Given the description of an element on the screen output the (x, y) to click on. 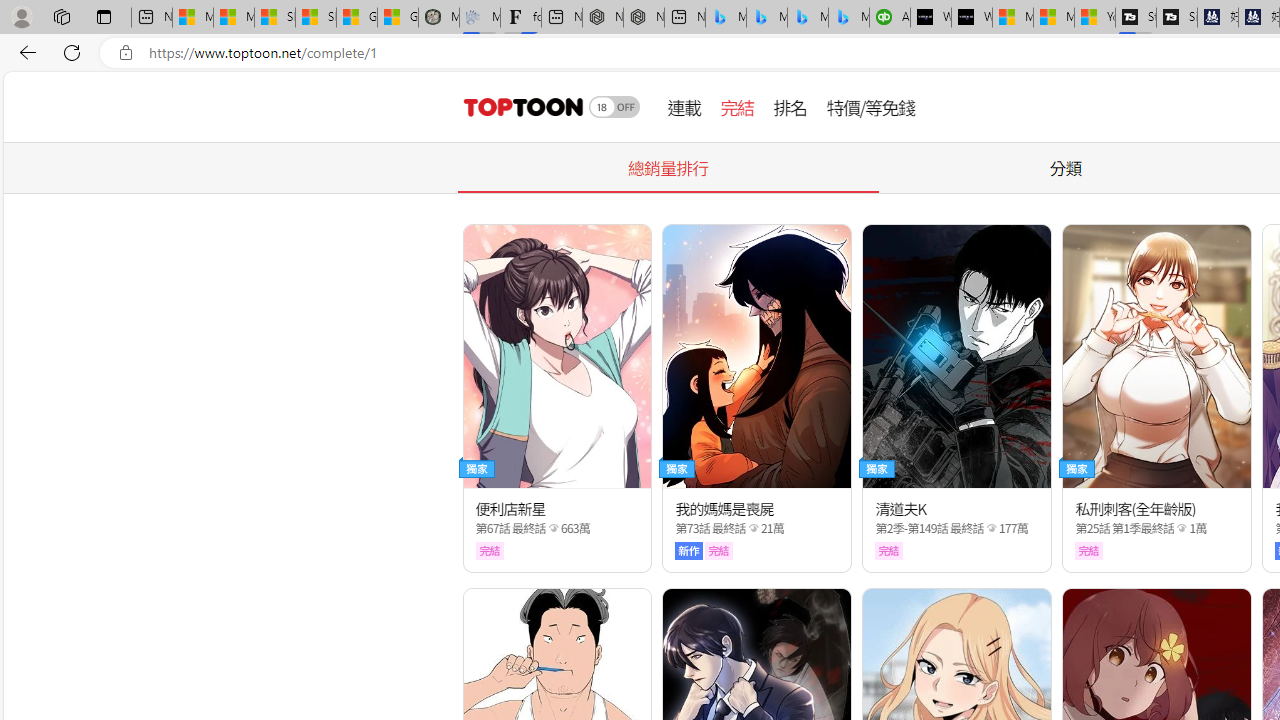
Microsoft Bing Travel - Stays in Bangkok, Bangkok, Thailand (767, 17)
Accounting Software for Accountants, CPAs and Bookkeepers (890, 17)
